Given the description of an element on the screen output the (x, y) to click on. 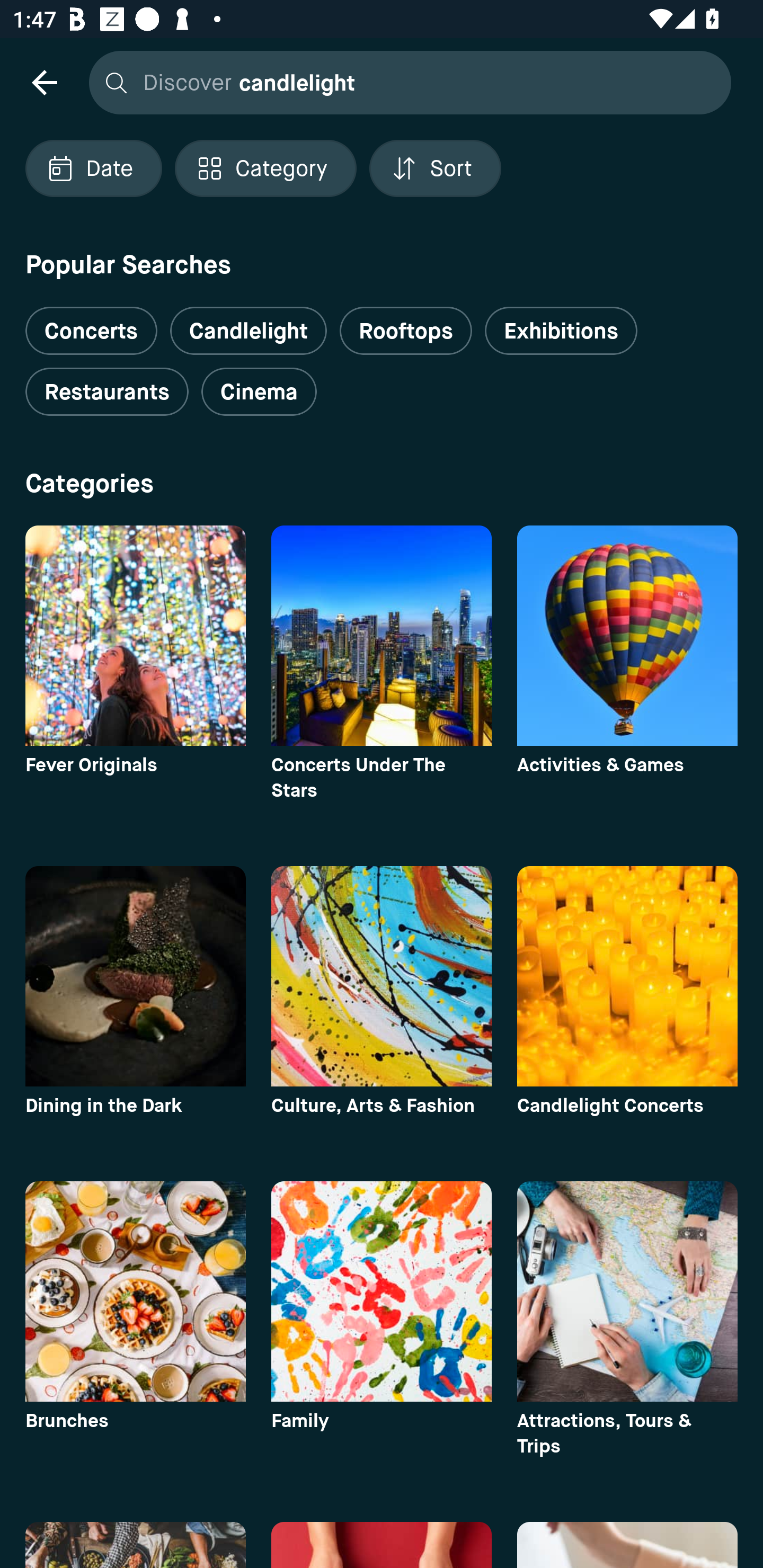
navigation icon (44, 81)
Discover candlelight (405, 81)
Localized description Date (93, 168)
Localized description Category (265, 168)
Localized description Sort (435, 168)
Concerts (91, 323)
Candlelight (248, 330)
Rooftops (405, 330)
Exhibitions (560, 330)
Restaurants (106, 391)
Cinema (258, 391)
category image (135, 635)
category image (381, 635)
category image (627, 635)
category image (135, 975)
category image (381, 975)
category image (627, 975)
category image (135, 1290)
category image (381, 1290)
category image (627, 1290)
